Given the description of an element on the screen output the (x, y) to click on. 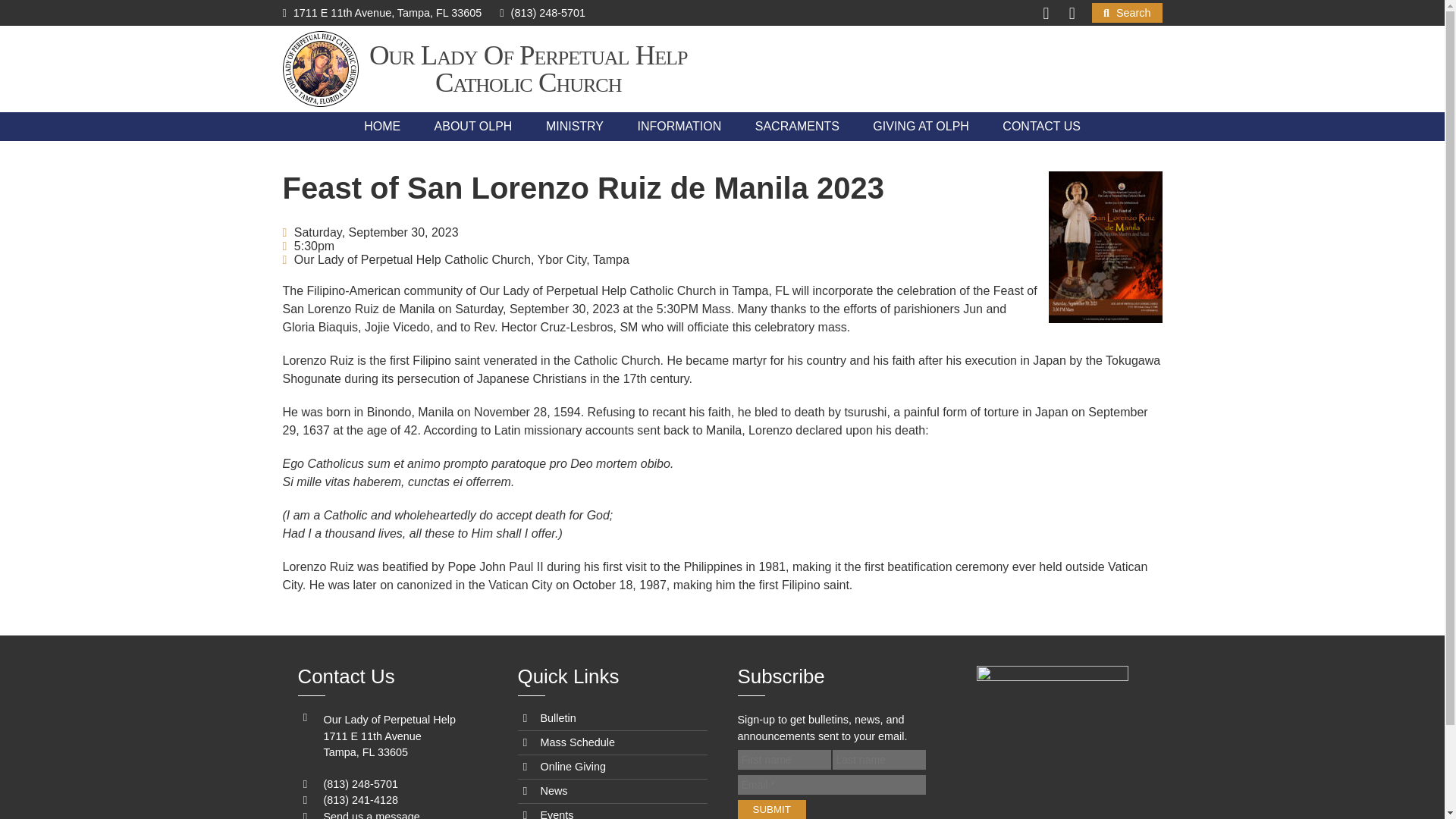
Submit (770, 809)
ABOUT OLPH (473, 126)
Search (1126, 12)
MINISTRY (574, 126)
Click to call (542, 12)
SACRAMENTS (796, 126)
1711 E 11th Avenue, Tampa, FL 33605 (381, 12)
Click for directions (381, 12)
INFORMATION (678, 126)
Email (830, 784)
